Given the description of an element on the screen output the (x, y) to click on. 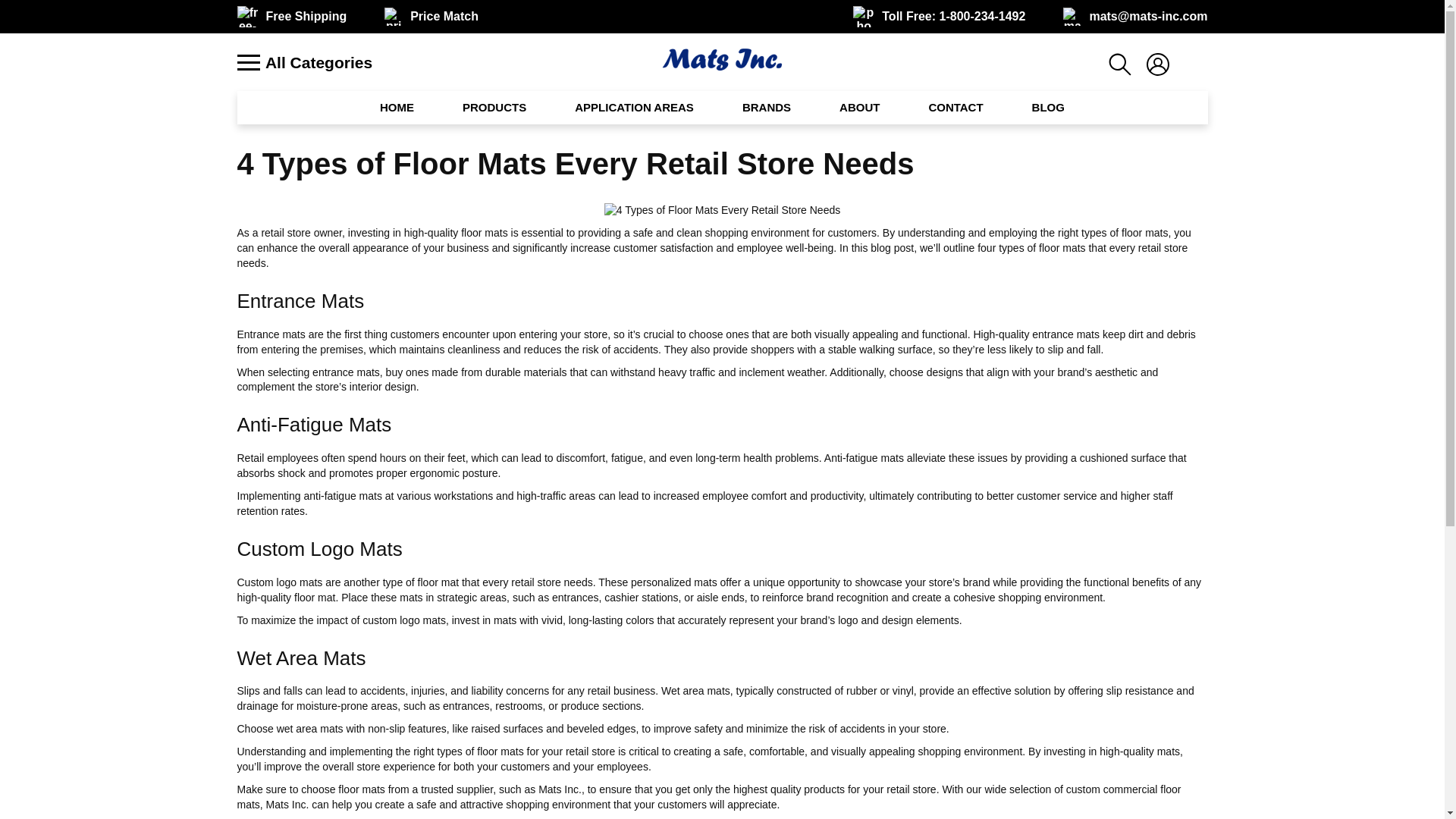
Terms and Conditions (444, 16)
Price Match (444, 16)
Mail Us (1148, 16)
Toll Free: 1-800-234-1492 (953, 16)
Call Us (953, 16)
Free Shipping (305, 16)
Mats Ecommerce (722, 59)
Terms and Conditions (305, 16)
